Given the description of an element on the screen output the (x, y) to click on. 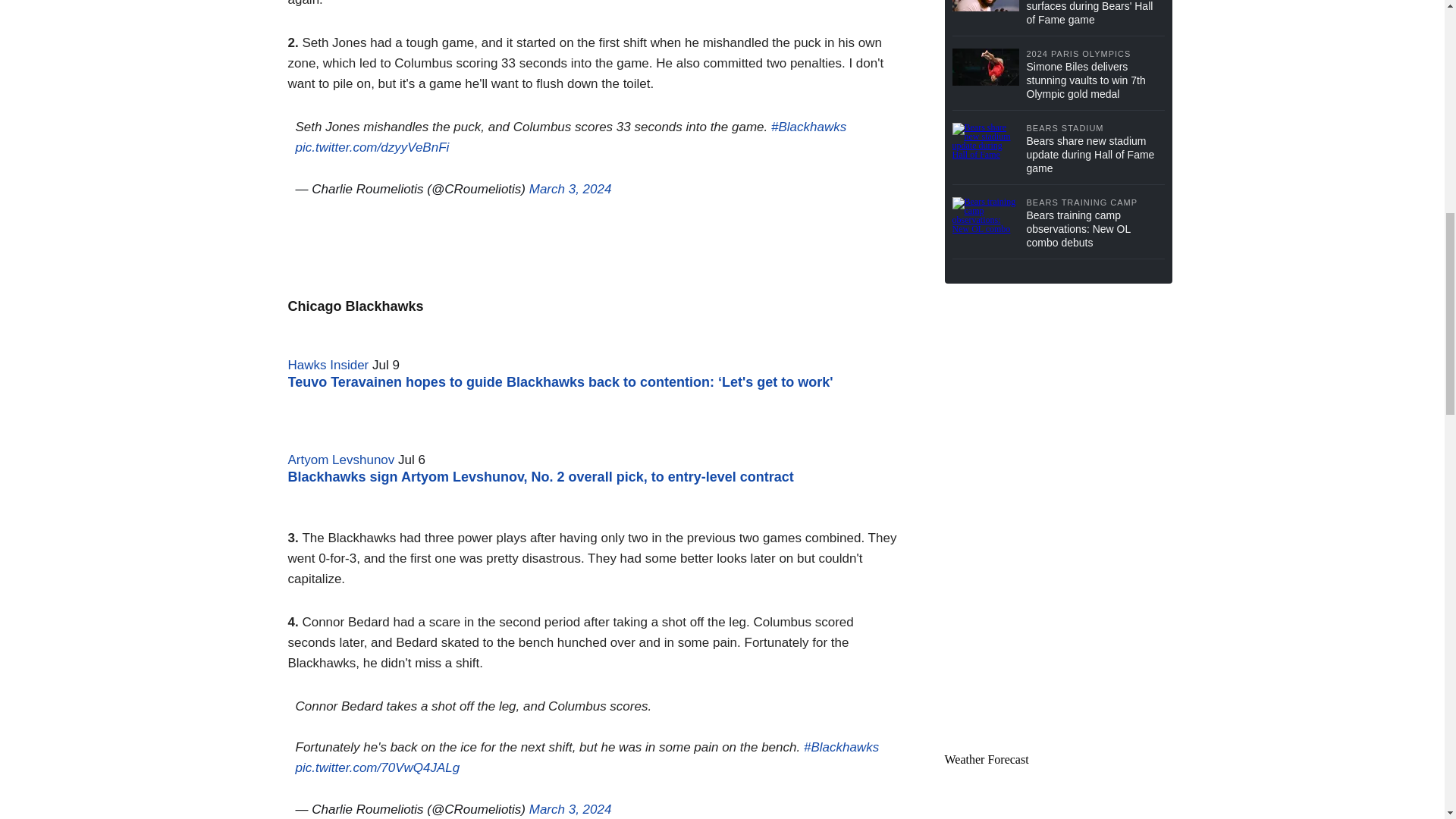
Hawks Insider (328, 364)
March 3, 2024 (570, 809)
March 3, 2024 (570, 188)
Artyom Levshunov (341, 459)
